Given the description of an element on the screen output the (x, y) to click on. 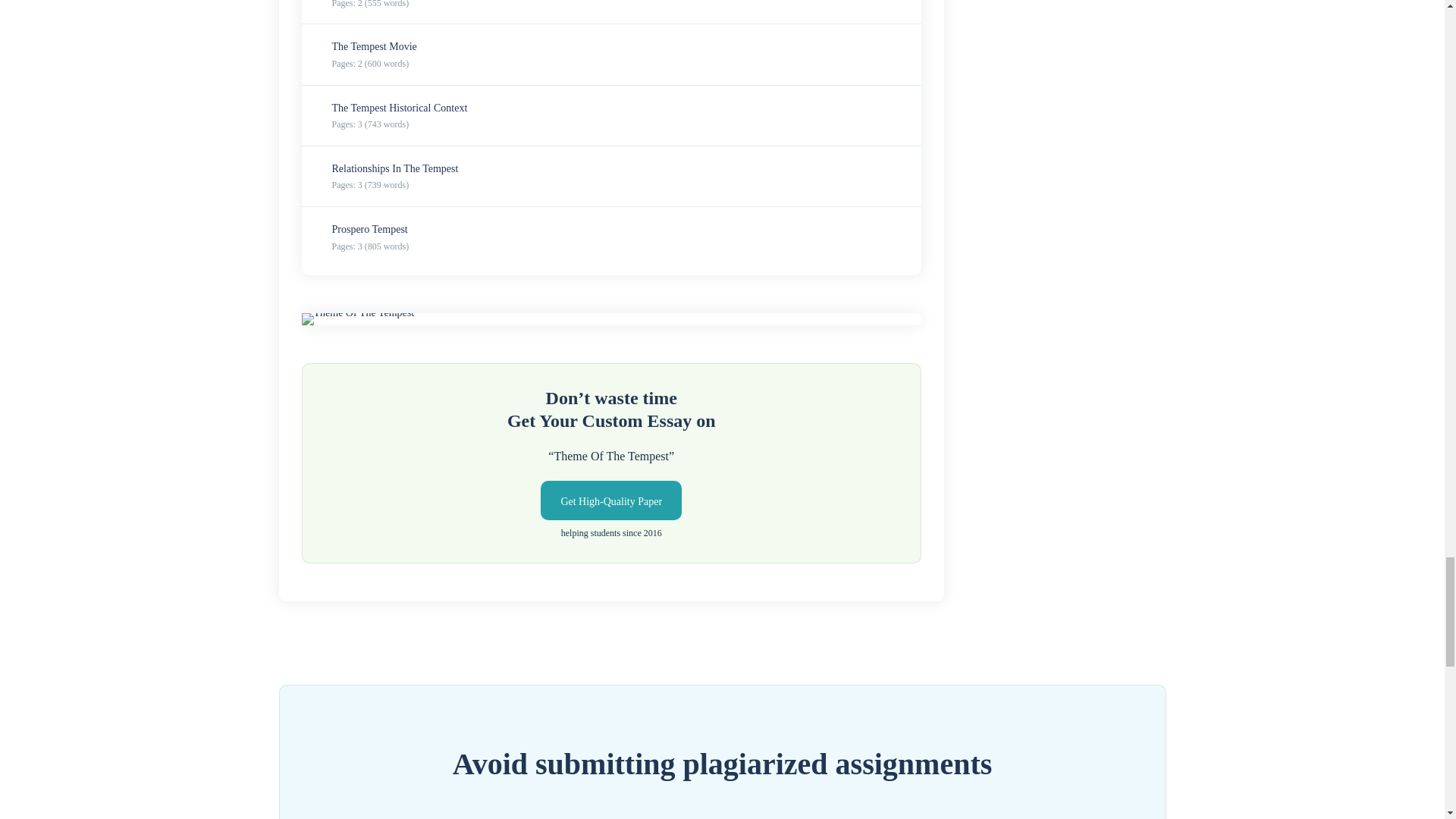
The Tempest Movie (373, 46)
Get High-Quality Paper (610, 500)
Relationships In The Tempest (394, 168)
Prospero Tempest (369, 229)
The Tempest Historical Context (399, 107)
